Given the description of an element on the screen output the (x, y) to click on. 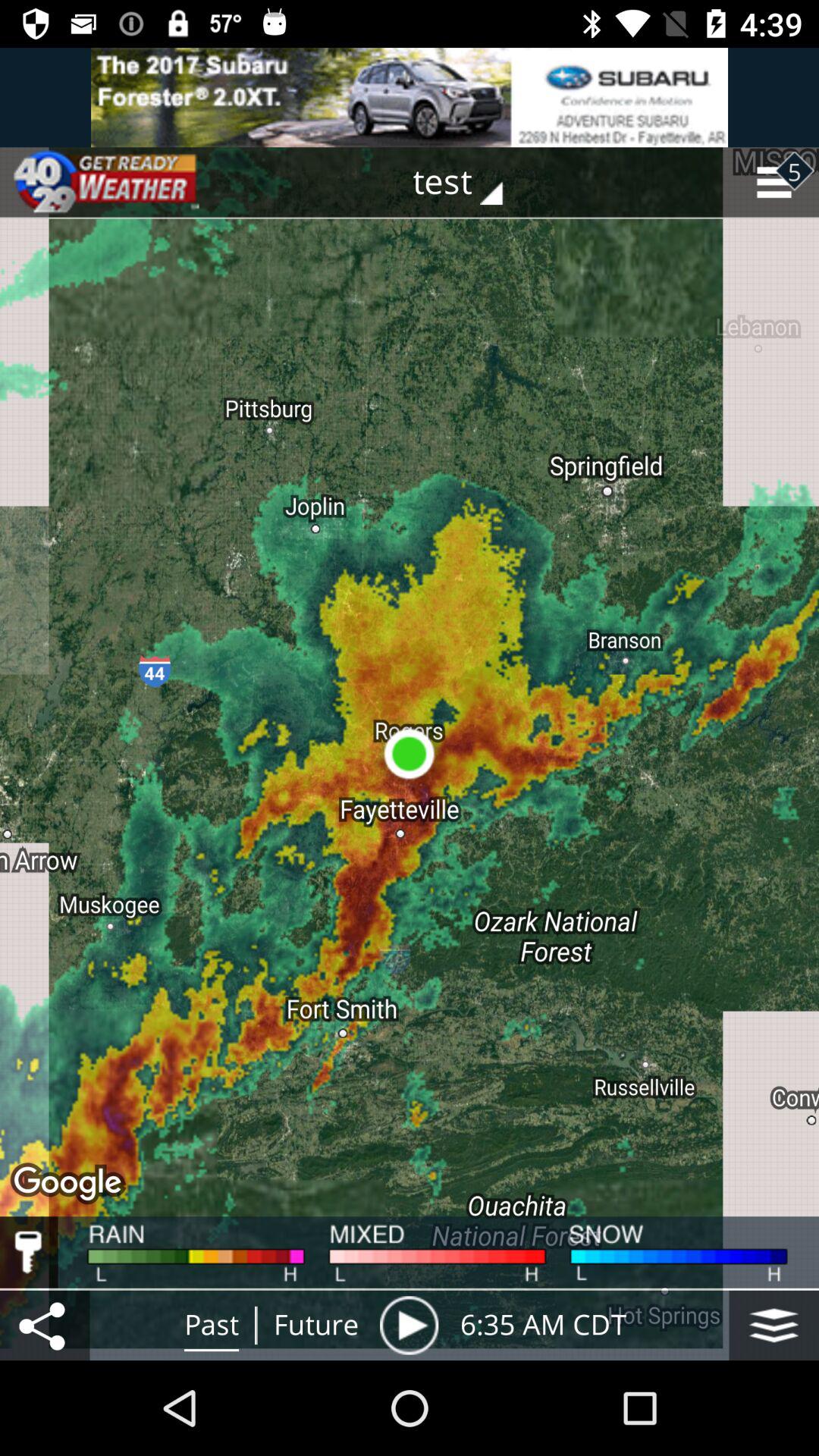
go do app (409, 97)
